Given the description of an element on the screen output the (x, y) to click on. 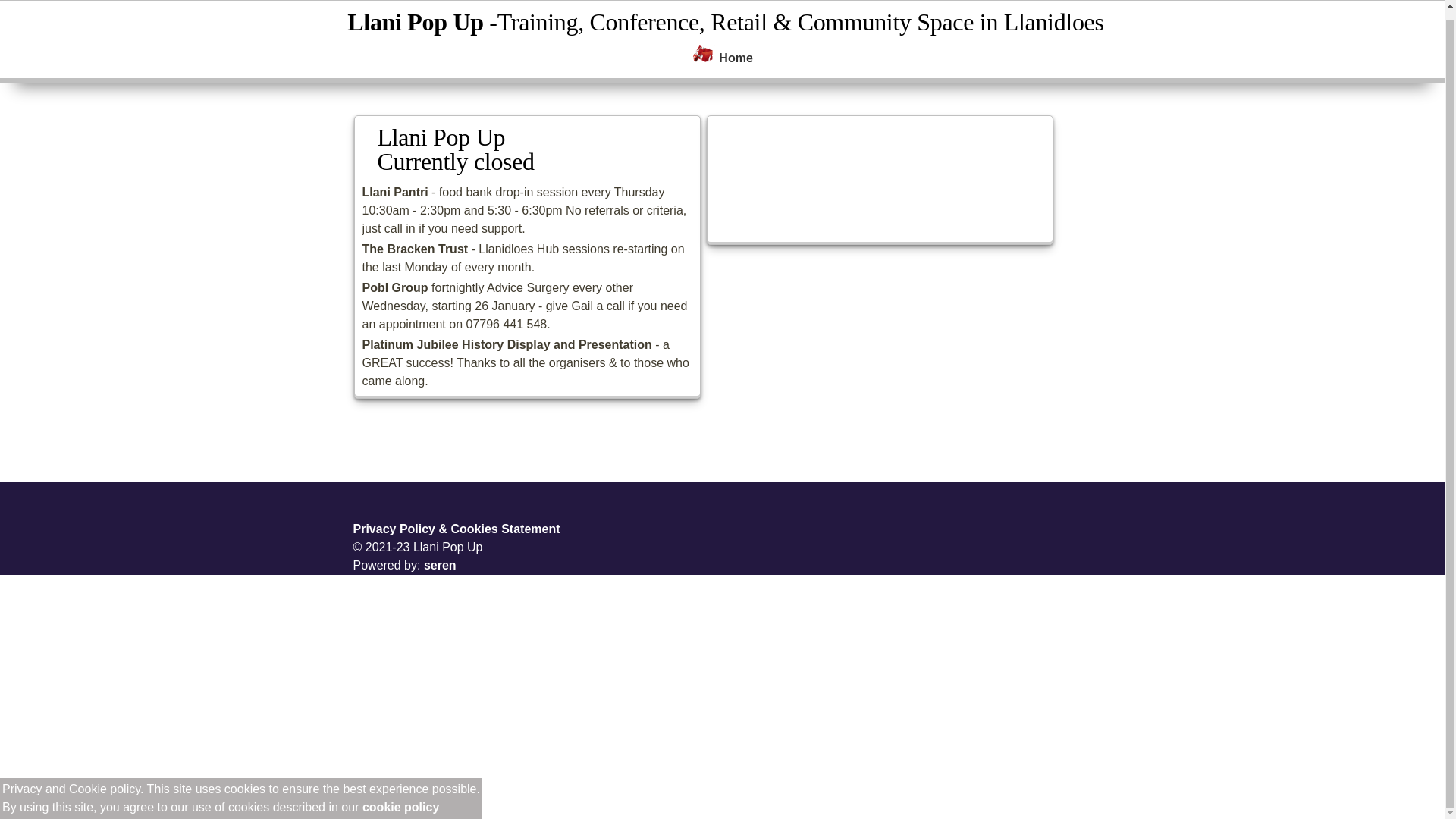
Home (703, 57)
Home (735, 57)
seren (440, 564)
cookie policy (400, 797)
Home (735, 57)
